Given the description of an element on the screen output the (x, y) to click on. 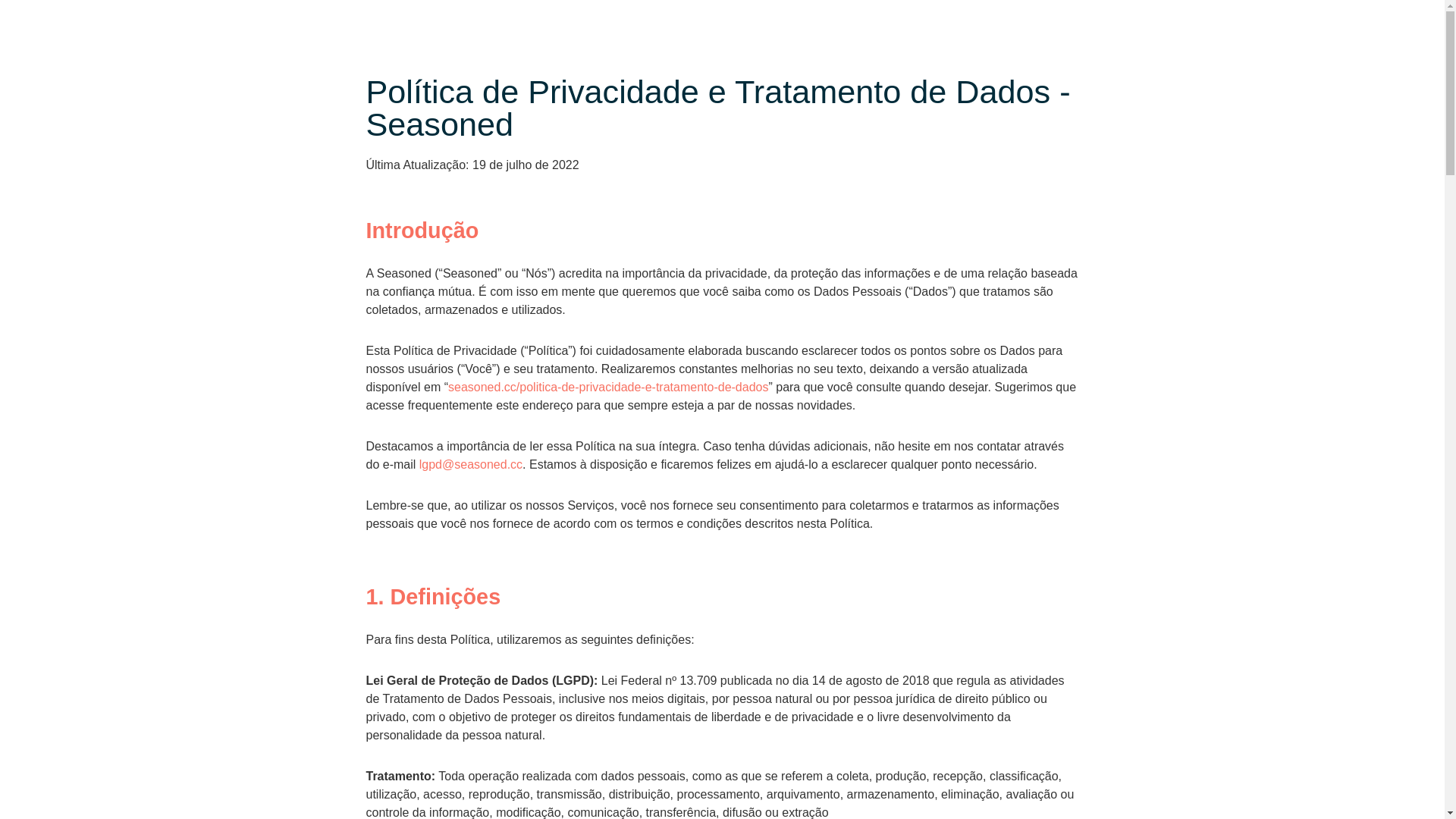
seasoned.cc/politica-de-privacidade-e-tratamento-de-dados Element type: text (608, 386)
lgpd@seasoned.cc Element type: text (470, 464)
